Given the description of an element on the screen output the (x, y) to click on. 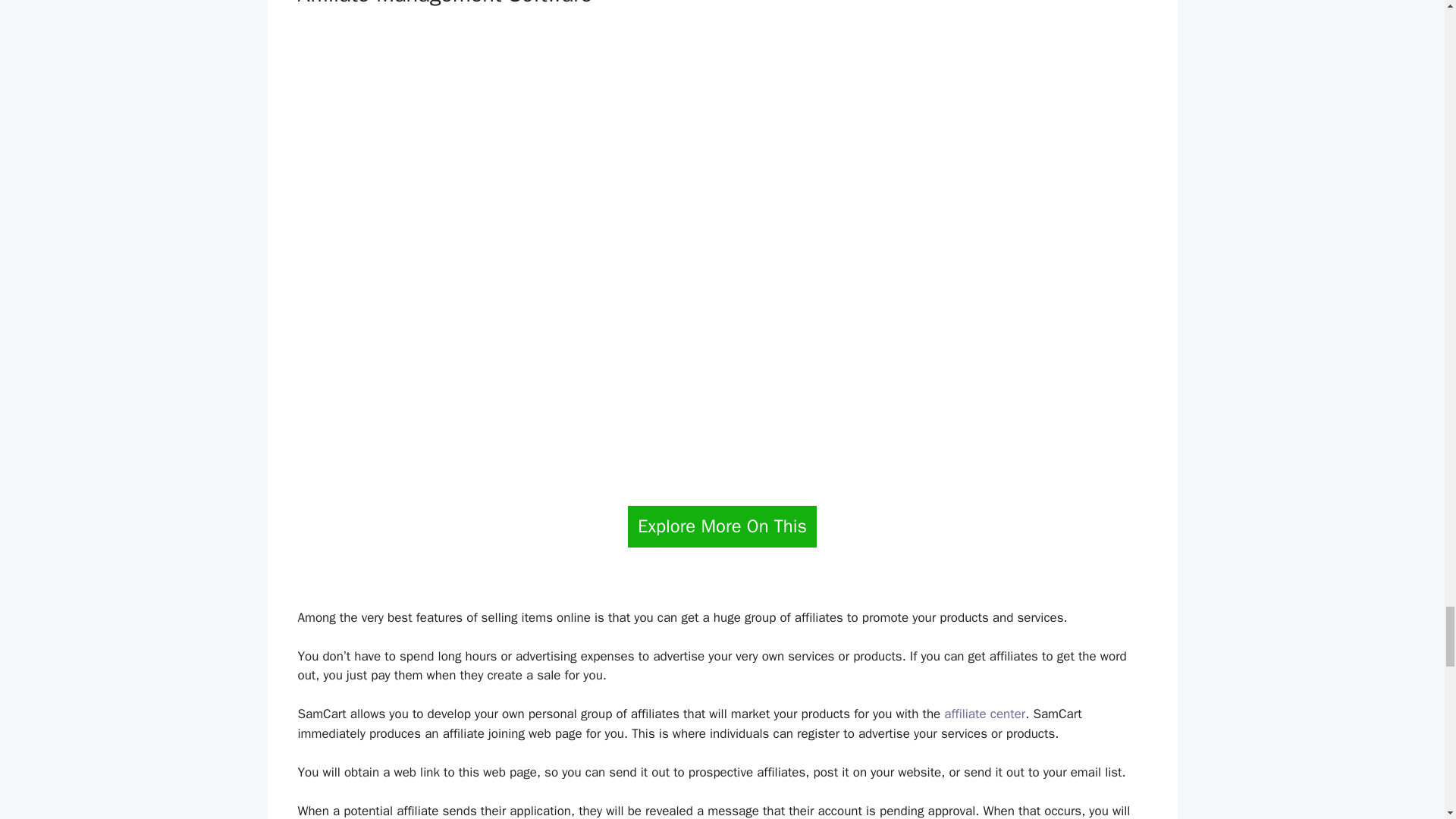
affiliate center (984, 713)
Explore More On This (721, 526)
